Given the description of an element on the screen output the (x, y) to click on. 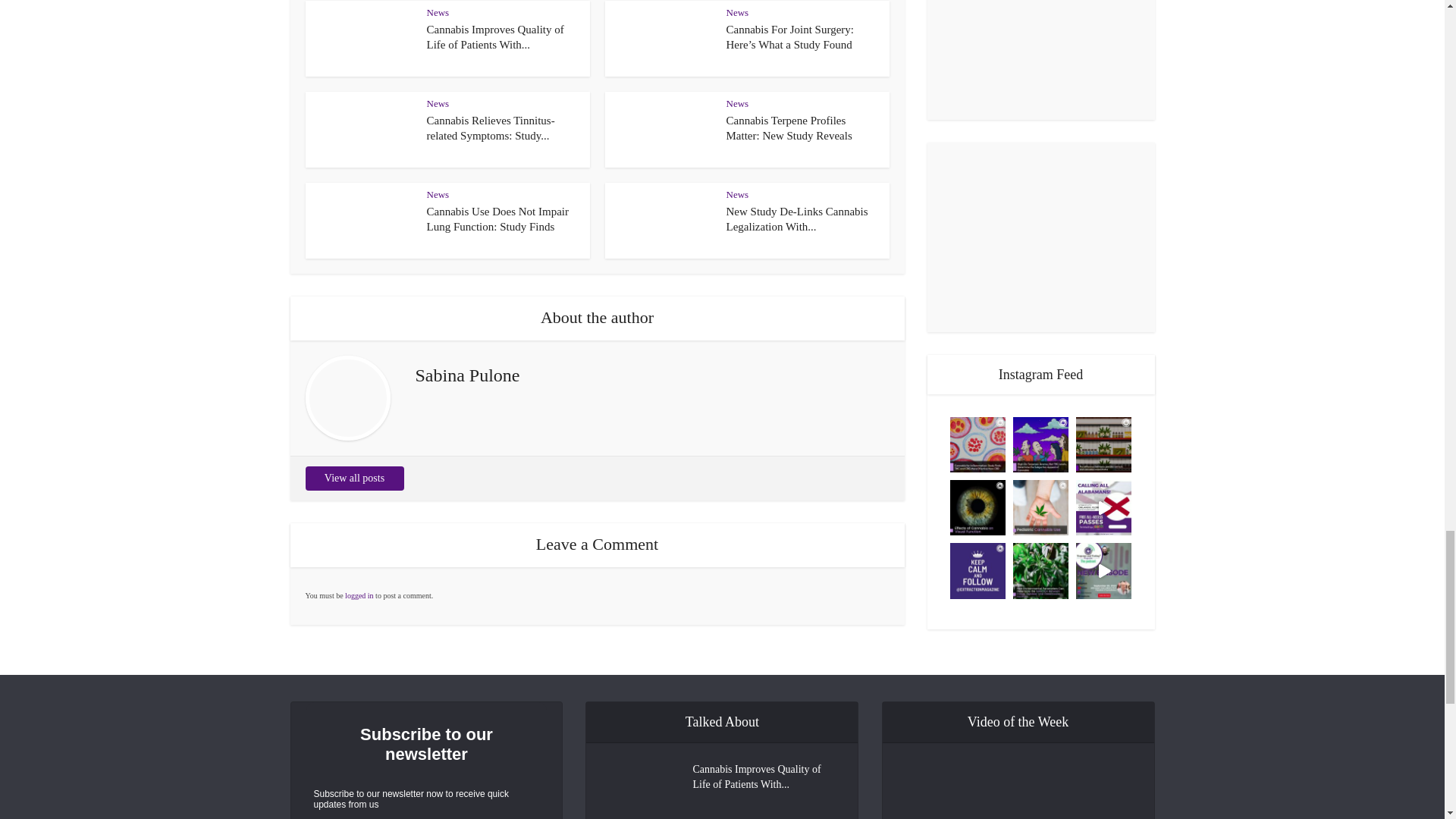
Cannabis Terpene Profiles Matter: New Study Reveals (788, 127)
Cannabis Use Does Not Impair Lung Function: Study Finds (496, 218)
Cannabis Relieves Tinnitus-related Symptoms: Study Finds (490, 127)
